Given the description of an element on the screen output the (x, y) to click on. 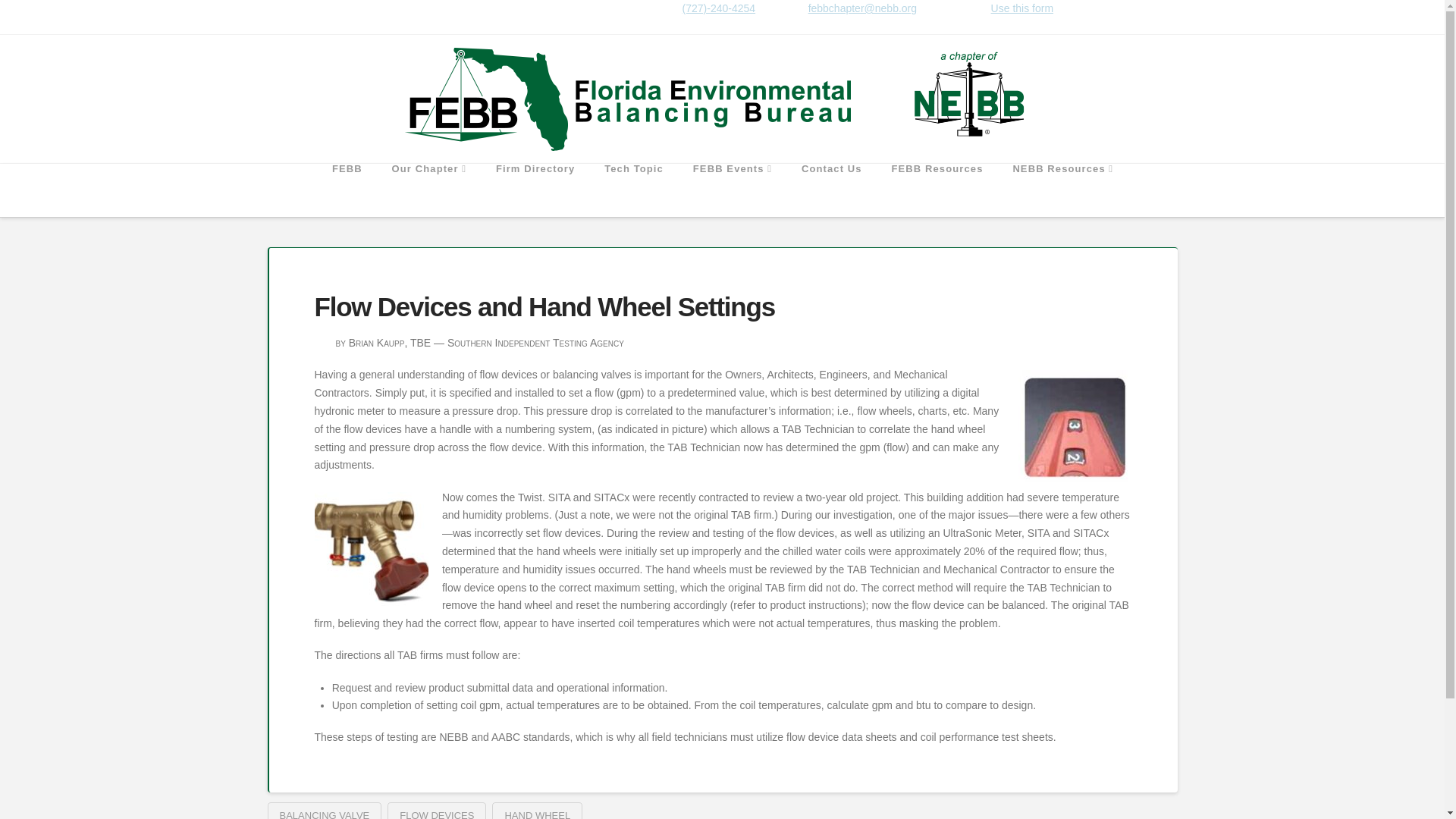
FEBB Resources (936, 190)
Contact Us (831, 190)
Firm Directory (534, 190)
NEBB Resources (1061, 190)
FEBB (347, 190)
FEBB Events (732, 190)
Use this form (1021, 8)
Tech Topic (633, 190)
Our Chapter (428, 190)
